Given the description of an element on the screen output the (x, y) to click on. 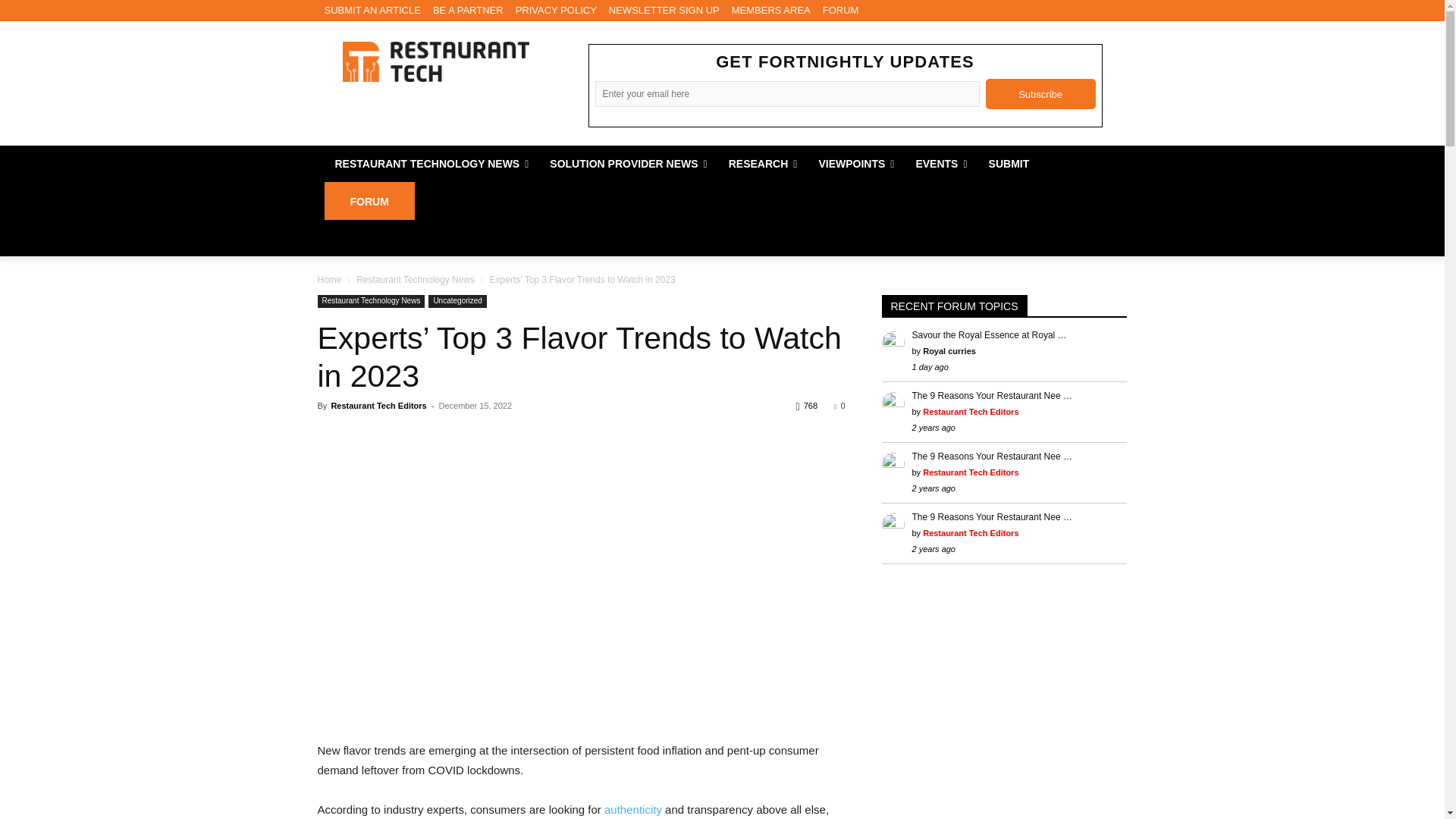
Subscribe (1040, 93)
RESTAURANT TECHNOLOGY NEWS (432, 163)
SOLUTION PROVIDER NEWS (627, 163)
NEWSLETTER SIGN UP (663, 10)
Restaurant Technology News (435, 61)
FORUM (840, 10)
MEMBERS AREA (771, 10)
PRIVACY POLICY (555, 10)
BE A PARTNER (467, 10)
Subscribe (1040, 93)
SUBMIT AN ARTICLE (372, 10)
